Given the description of an element on the screen output the (x, y) to click on. 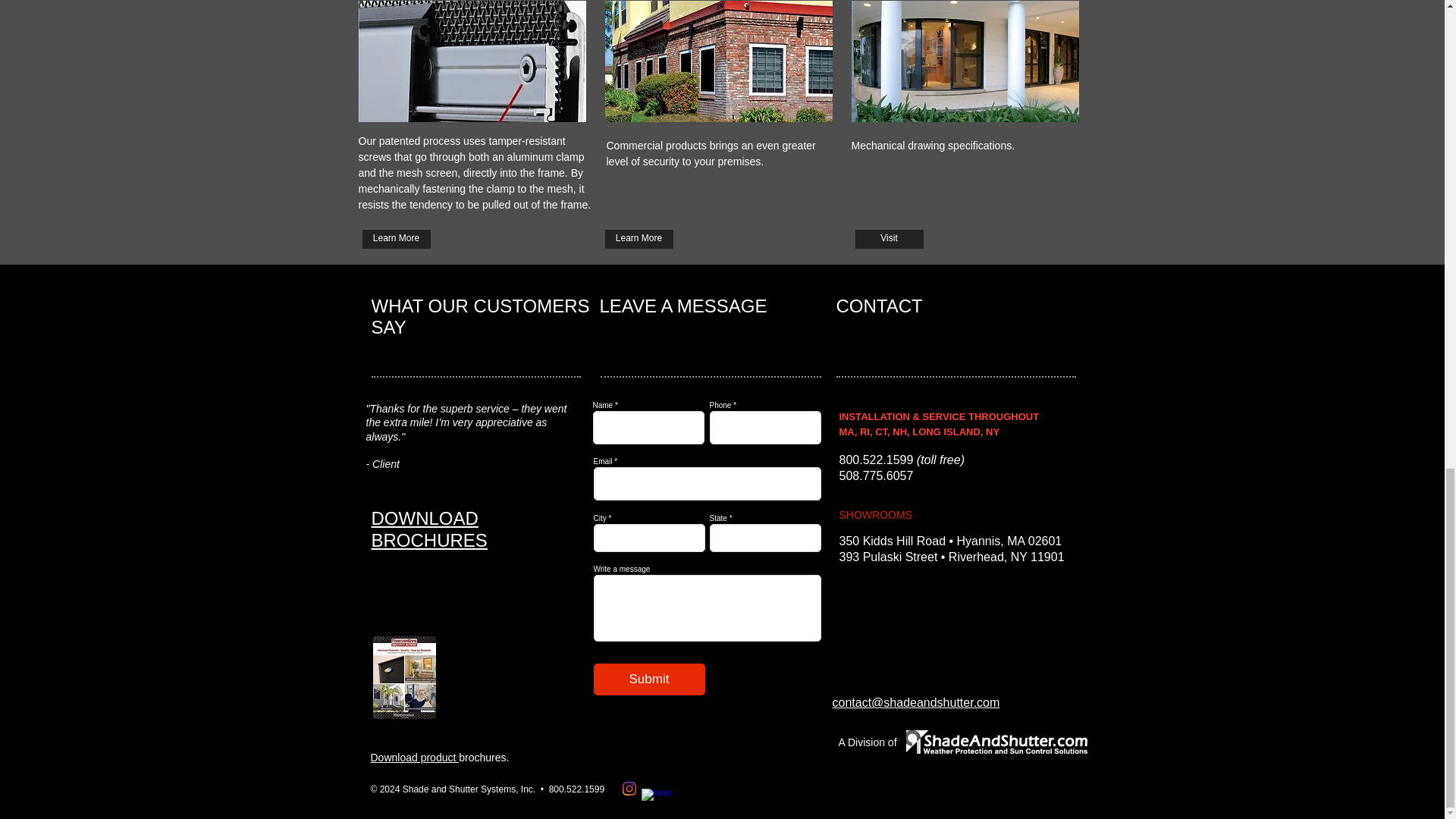
Download product (413, 757)
Learn More (396, 239)
800.522.1599 (875, 459)
LEAVE A MESSAGE (682, 305)
508.775.6057 (875, 475)
Visit (889, 239)
DOWNLOAD BROCHURES (429, 528)
Learn More (638, 239)
CONTACT (878, 305)
Submit (648, 679)
